Given the description of an element on the screen output the (x, y) to click on. 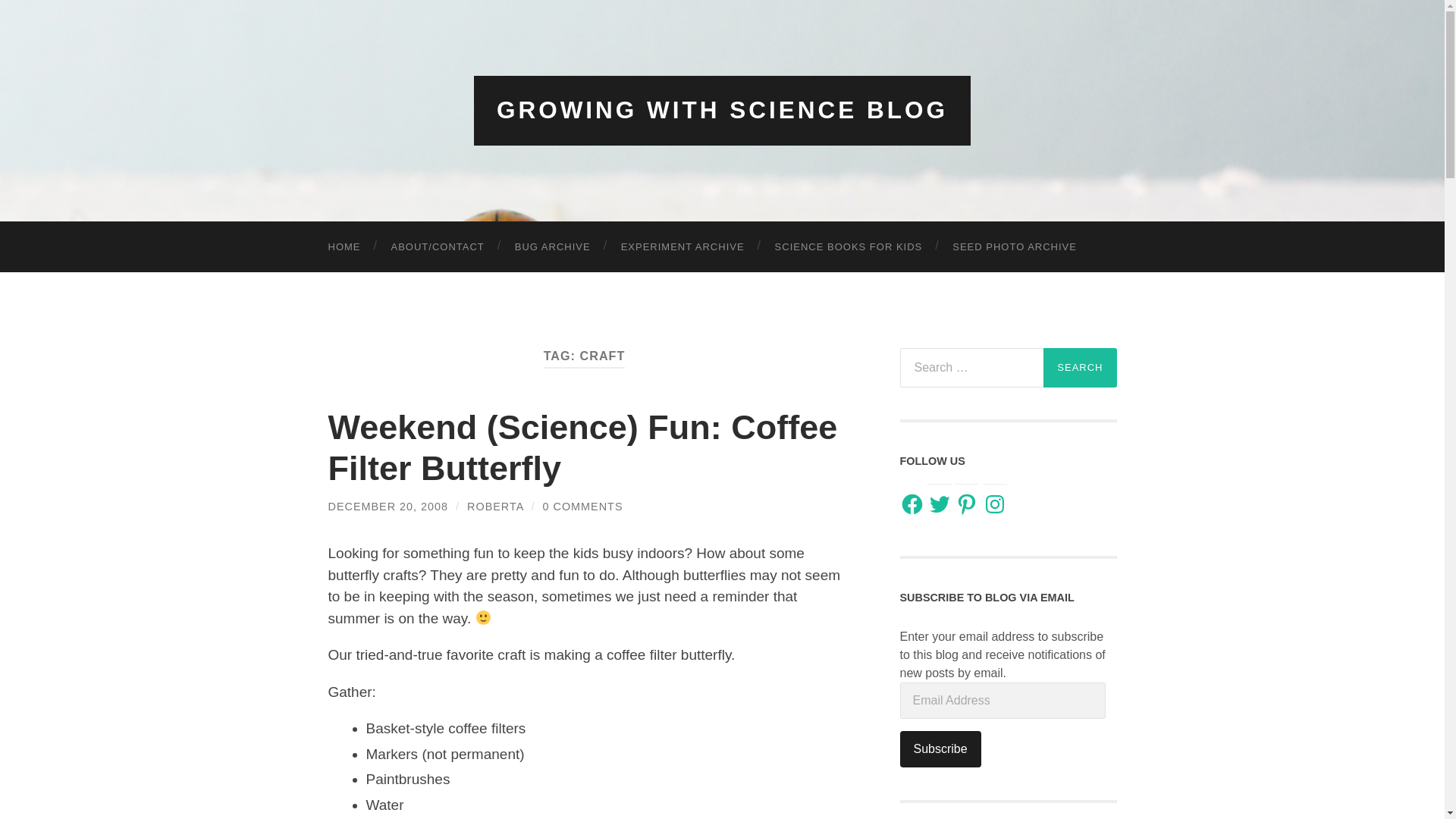
HOME (344, 246)
SEED PHOTO ARCHIVE (1014, 246)
SCIENCE BOOKS FOR KIDS (848, 246)
Pinterest (966, 504)
Facebook (911, 504)
Search (1079, 366)
Twitter (939, 504)
GROWING WITH SCIENCE BLOG (721, 109)
Instagram (994, 504)
EXPERIMENT ARCHIVE (682, 246)
Search (1079, 366)
DECEMBER 20, 2008 (387, 506)
Posts by Roberta (494, 506)
BUG ARCHIVE (552, 246)
Search (1079, 366)
